Given the description of an element on the screen output the (x, y) to click on. 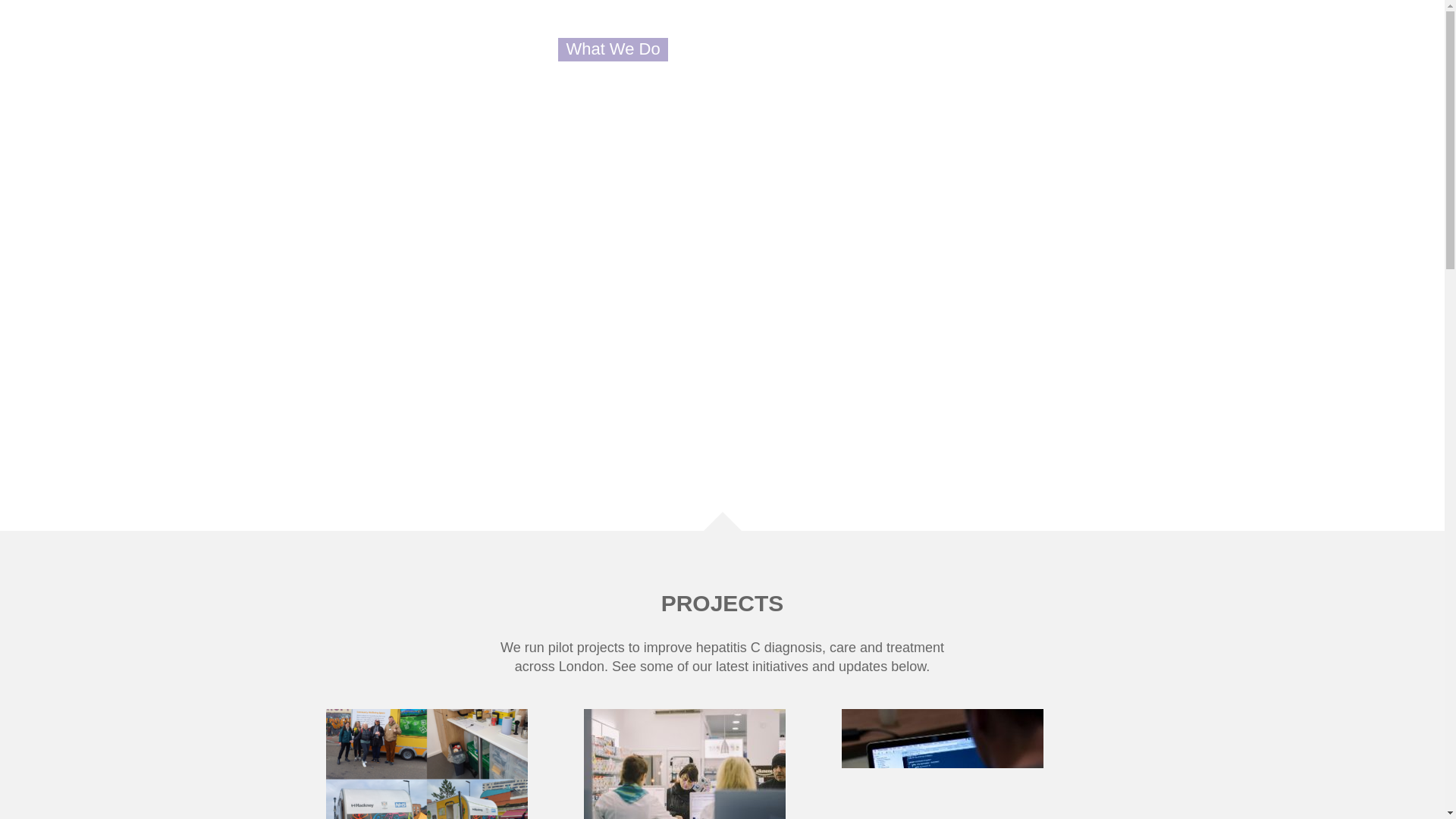
resources (322, 338)
projects (331, 278)
resources (322, 338)
Who We Are (484, 49)
reports (328, 308)
reports (244, 68)
Contact (328, 308)
News (884, 49)
Home (715, 49)
